Given the description of an element on the screen output the (x, y) to click on. 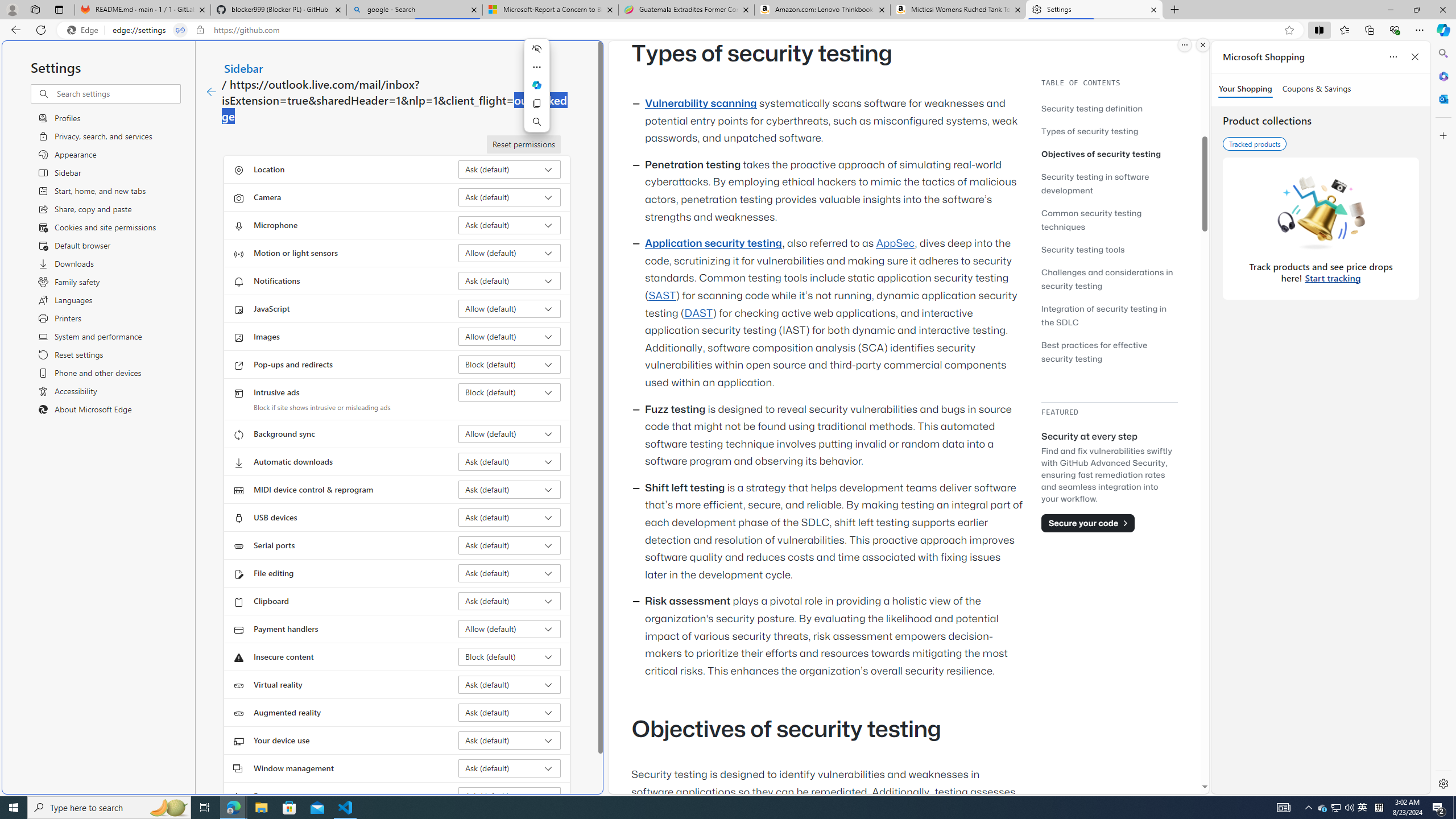
DAST (698, 312)
Integration of security testing in the SDLC (1104, 314)
AppSec (895, 243)
Best practices for effective security testing (1109, 351)
google - Search (414, 9)
Integration of security testing in the SDLC (1109, 315)
Go back to Sidebar page. (210, 91)
Pop-ups and redirects Block (default) (509, 364)
Mini menu on text selection (536, 84)
